Given the description of an element on the screen output the (x, y) to click on. 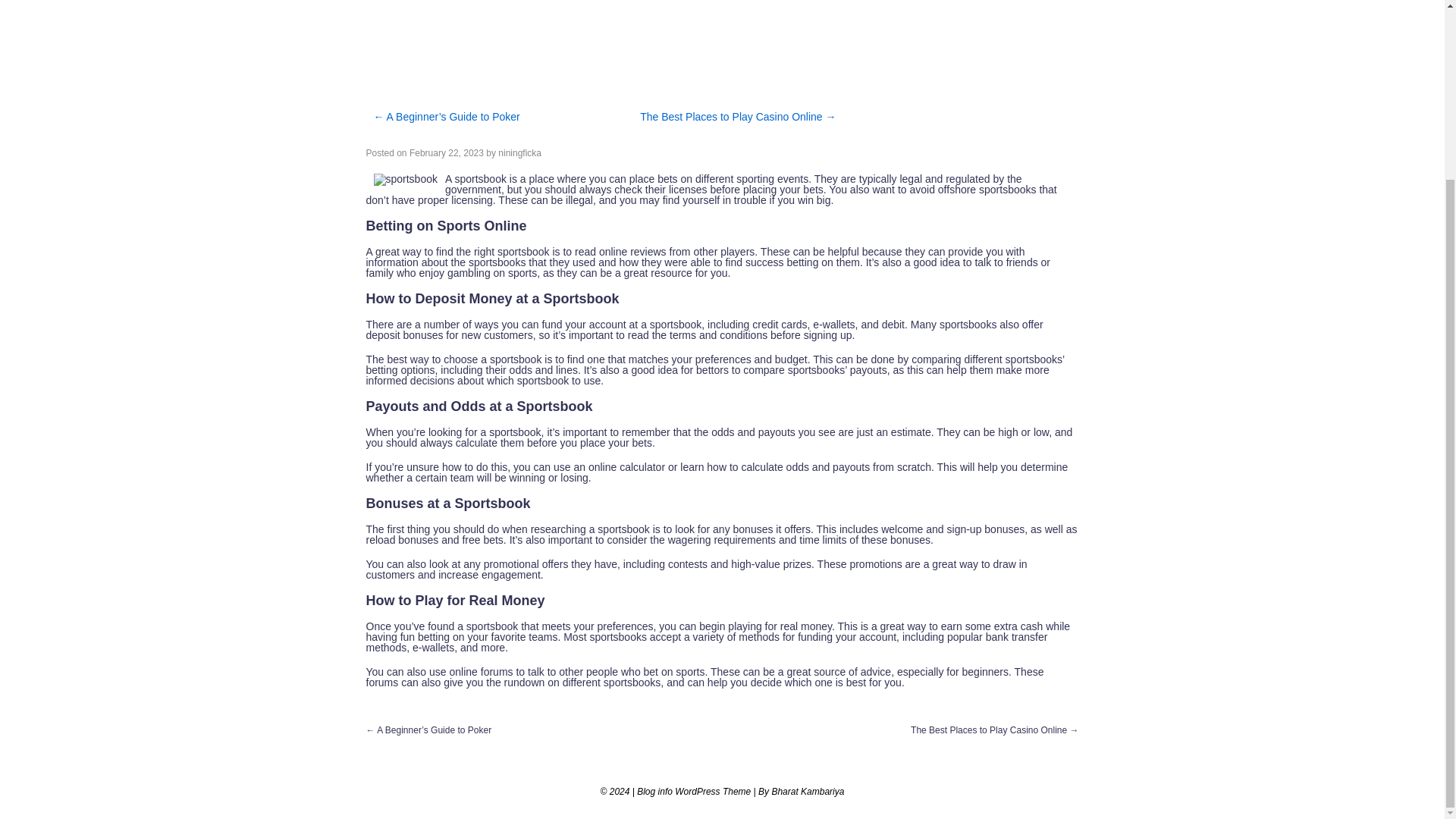
niningficka (519, 153)
View all posts by niningficka (519, 153)
8:19 am (446, 153)
February 22, 2023 (446, 153)
